Given the description of an element on the screen output the (x, y) to click on. 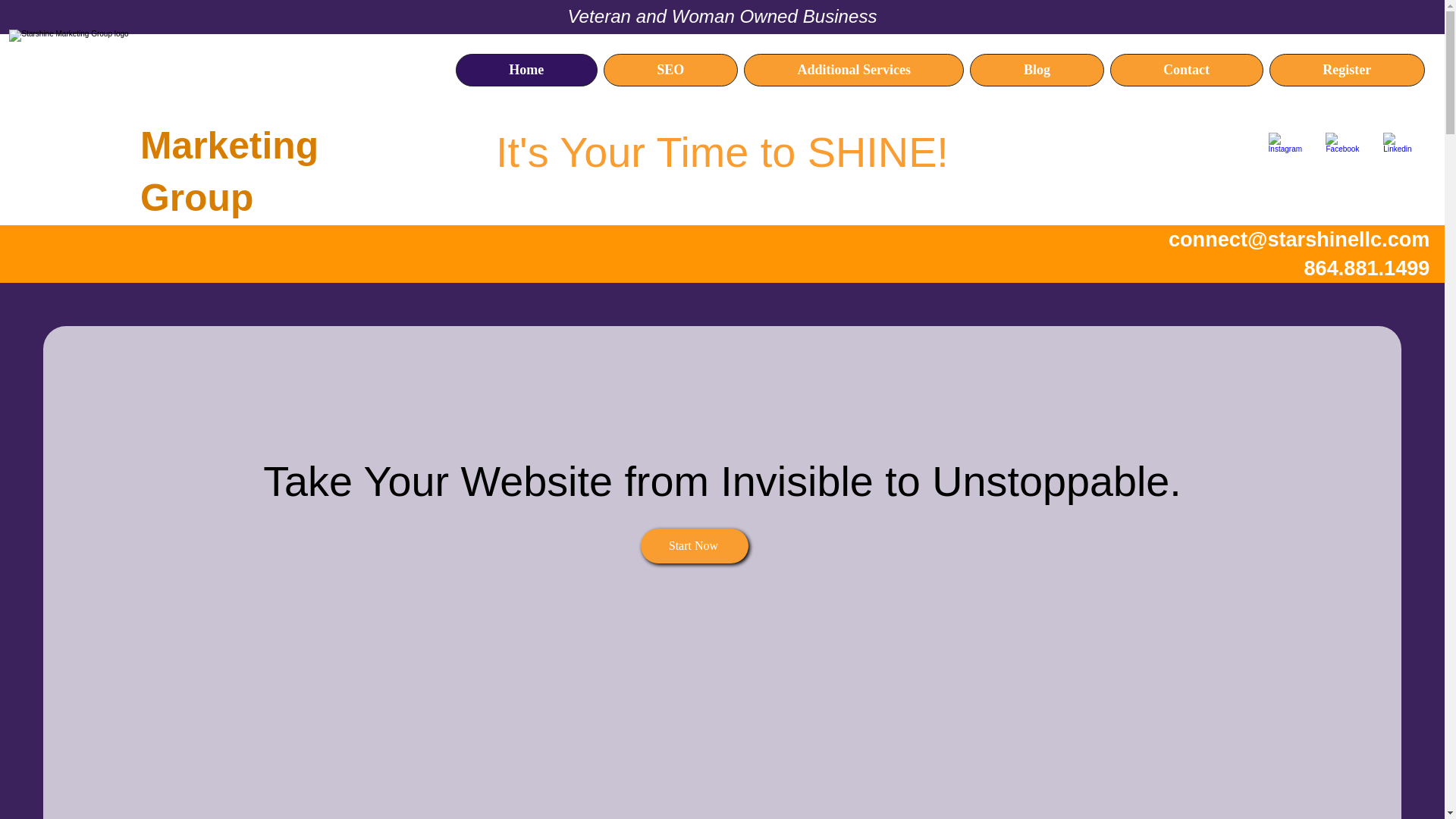
SEO (671, 70)
Additional Services (853, 70)
Register (1347, 70)
Contact (1186, 70)
Start Now (694, 545)
Blog (1036, 70)
Home (525, 70)
